Given the description of an element on the screen output the (x, y) to click on. 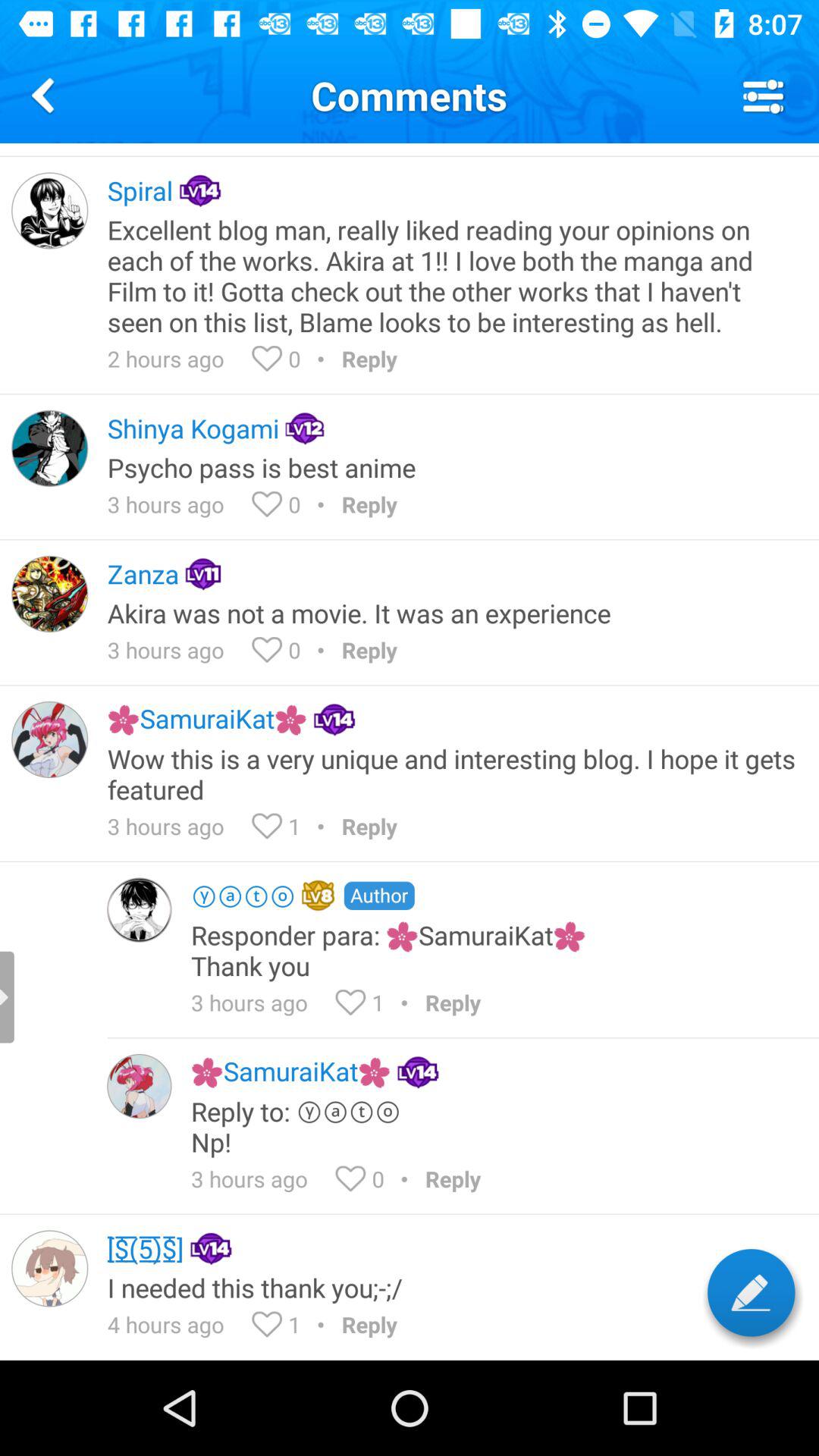
jump until the psycho pass is icon (453, 467)
